Given the description of an element on the screen output the (x, y) to click on. 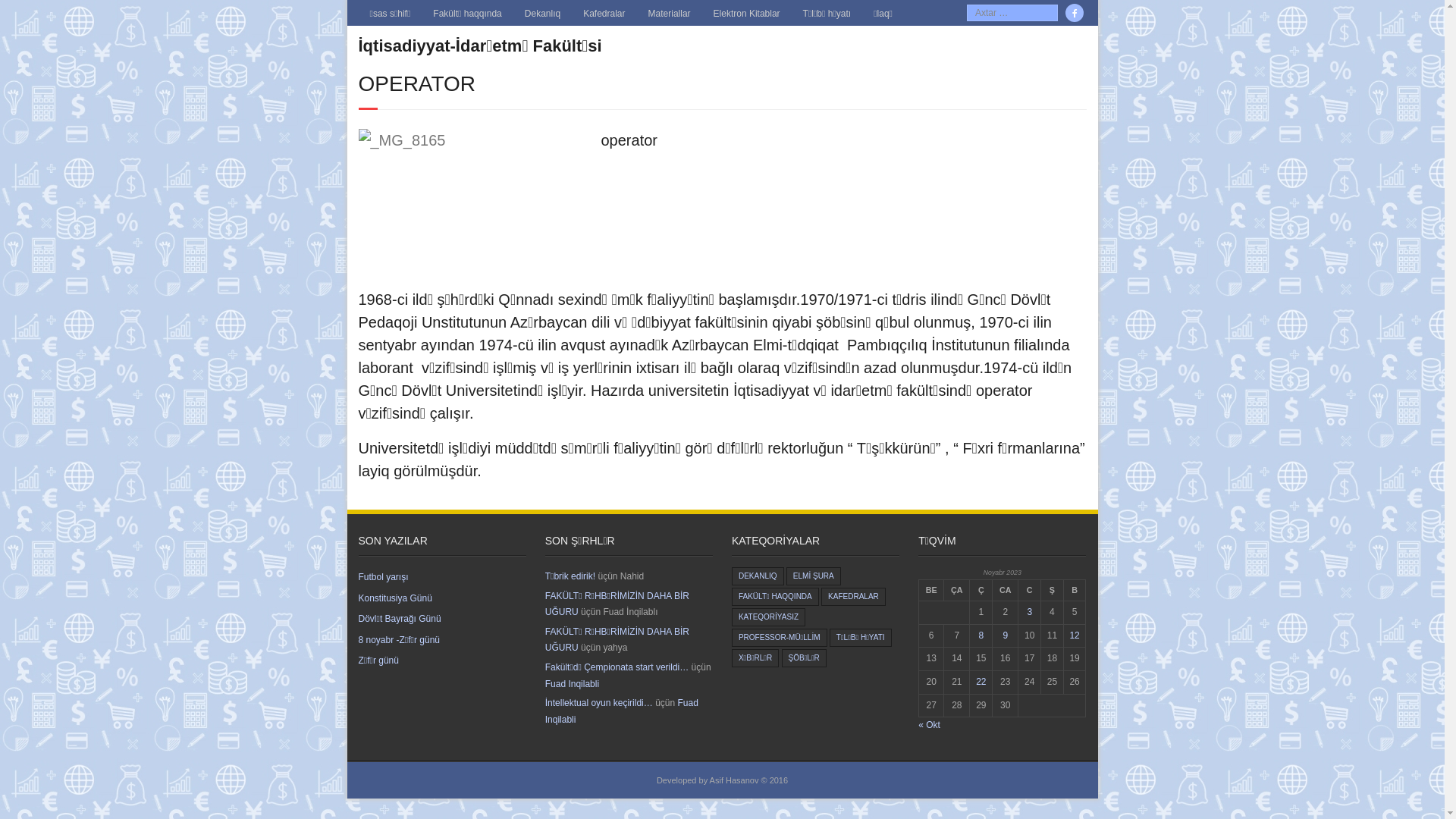
Axtar Element type: text (21, 9)
Fuad Inqilabli Element type: text (572, 683)
9 Element type: text (1004, 635)
8 Element type: text (980, 635)
22 Element type: text (980, 681)
3 Element type: text (1029, 611)
DEKANLIQ Element type: text (757, 576)
KATEQORIYASIZ Element type: text (768, 617)
Kafedralar Element type: text (603, 12)
KAFEDRALAR Element type: text (853, 596)
Fuad Inqilabli Element type: text (621, 710)
Elektron Kitablar Element type: text (746, 12)
12 Element type: text (1074, 635)
Materiallar Element type: text (669, 12)
